Given the description of an element on the screen output the (x, y) to click on. 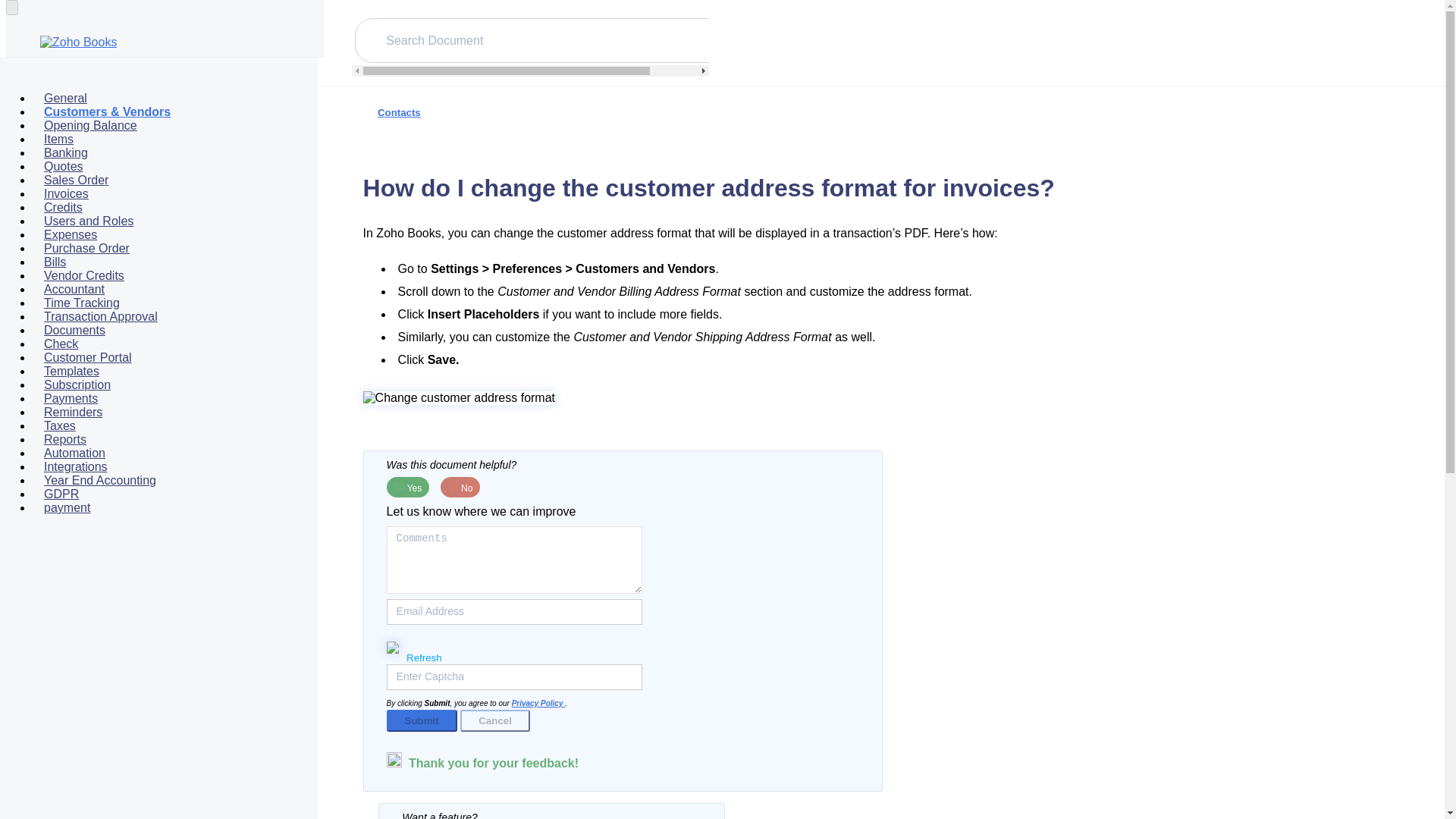
Print this page (1396, 124)
General (65, 97)
Items (58, 138)
Opening Balance (90, 125)
